Given the description of an element on the screen output the (x, y) to click on. 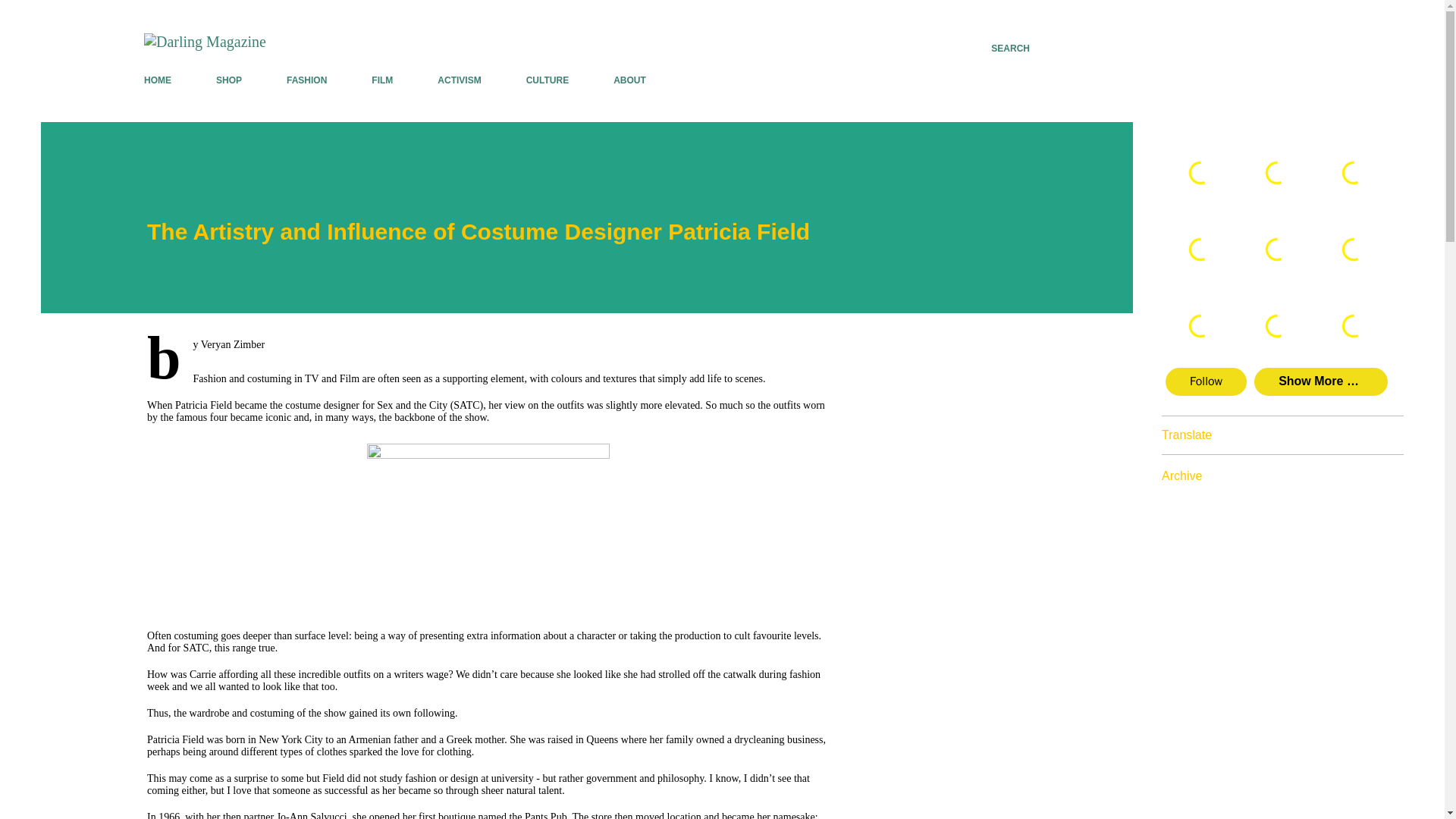
SHOP (228, 80)
ABOUT (629, 80)
CULTURE (547, 80)
SEARCH (1010, 48)
HOME (162, 80)
ACTIVISM (458, 80)
FASHION (307, 80)
FILM (381, 80)
